Given the description of an element on the screen output the (x, y) to click on. 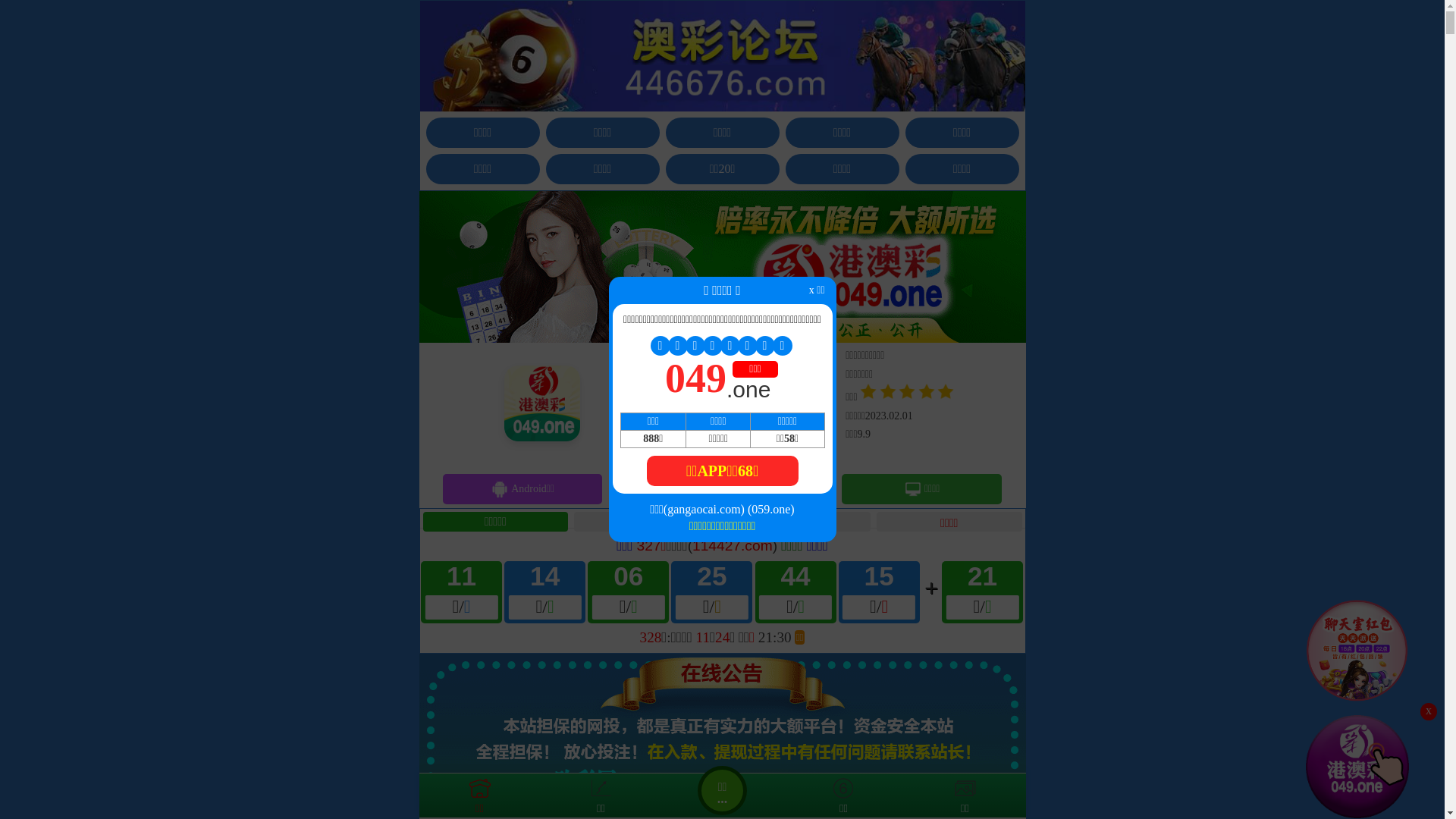
x Element type: text (1428, 711)
